Given the description of an element on the screen output the (x, y) to click on. 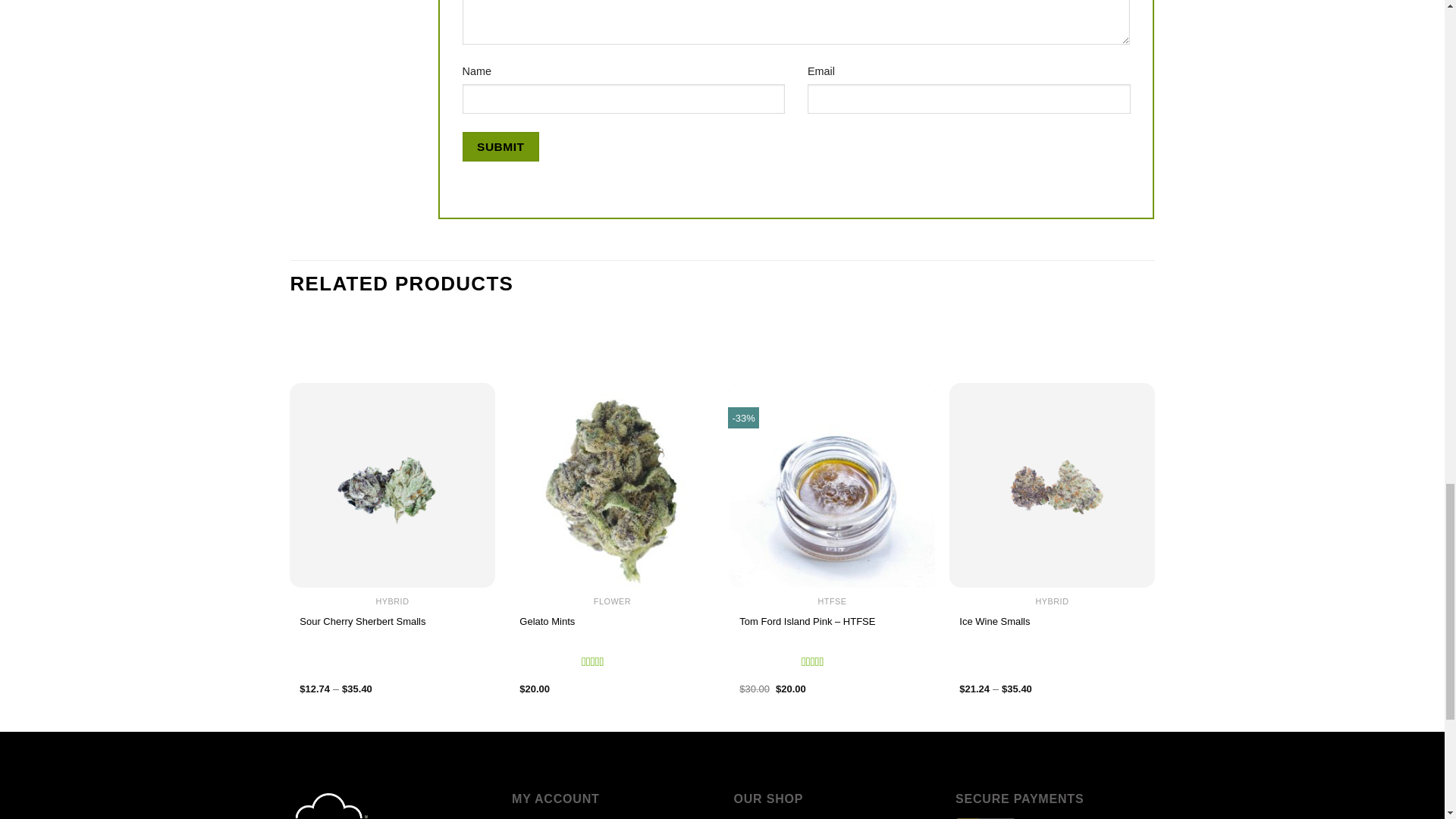
Submit (500, 146)
